Given the description of an element on the screen output the (x, y) to click on. 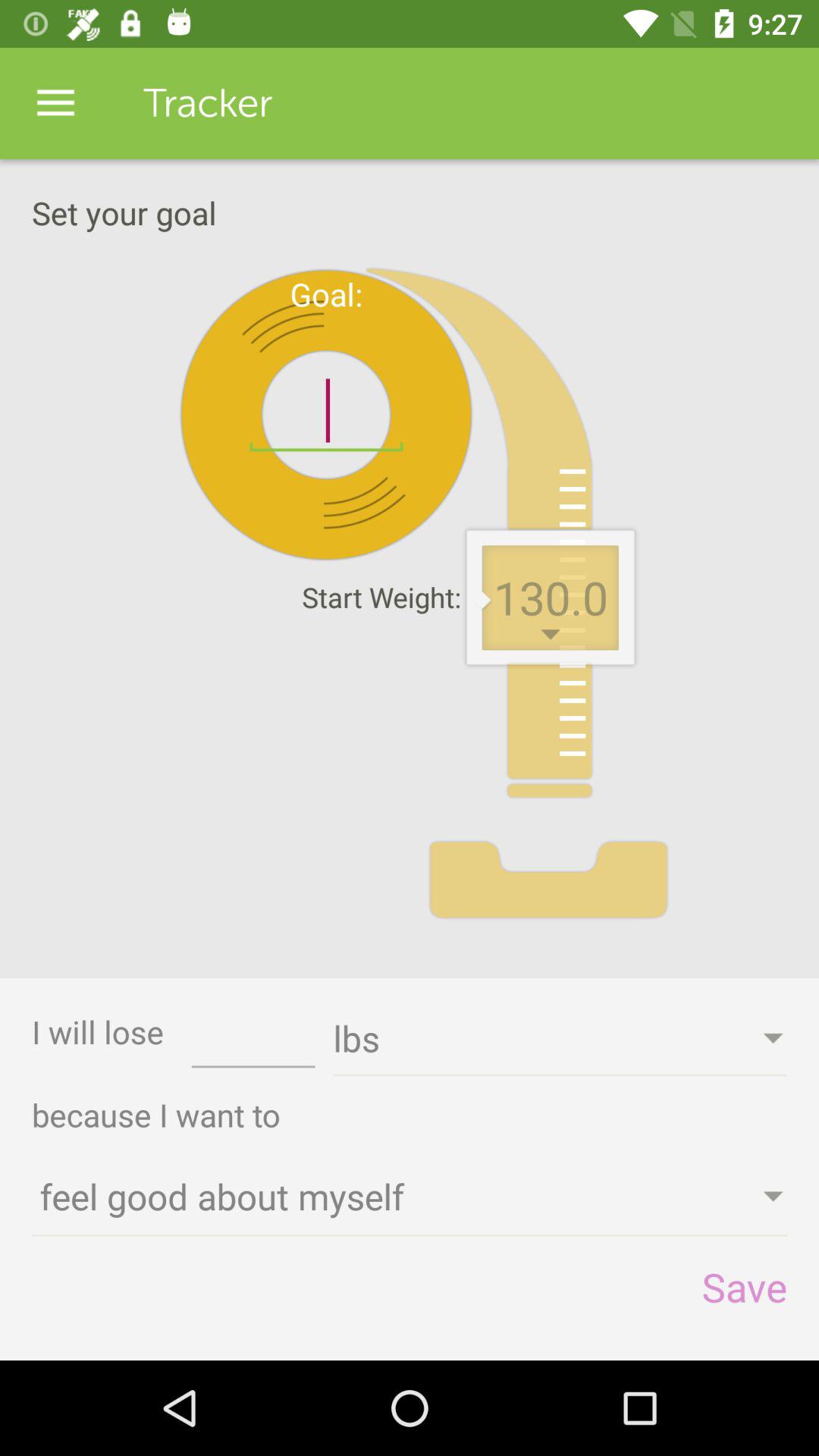
click the item next to i will lose item (253, 1043)
